Given the description of an element on the screen output the (x, y) to click on. 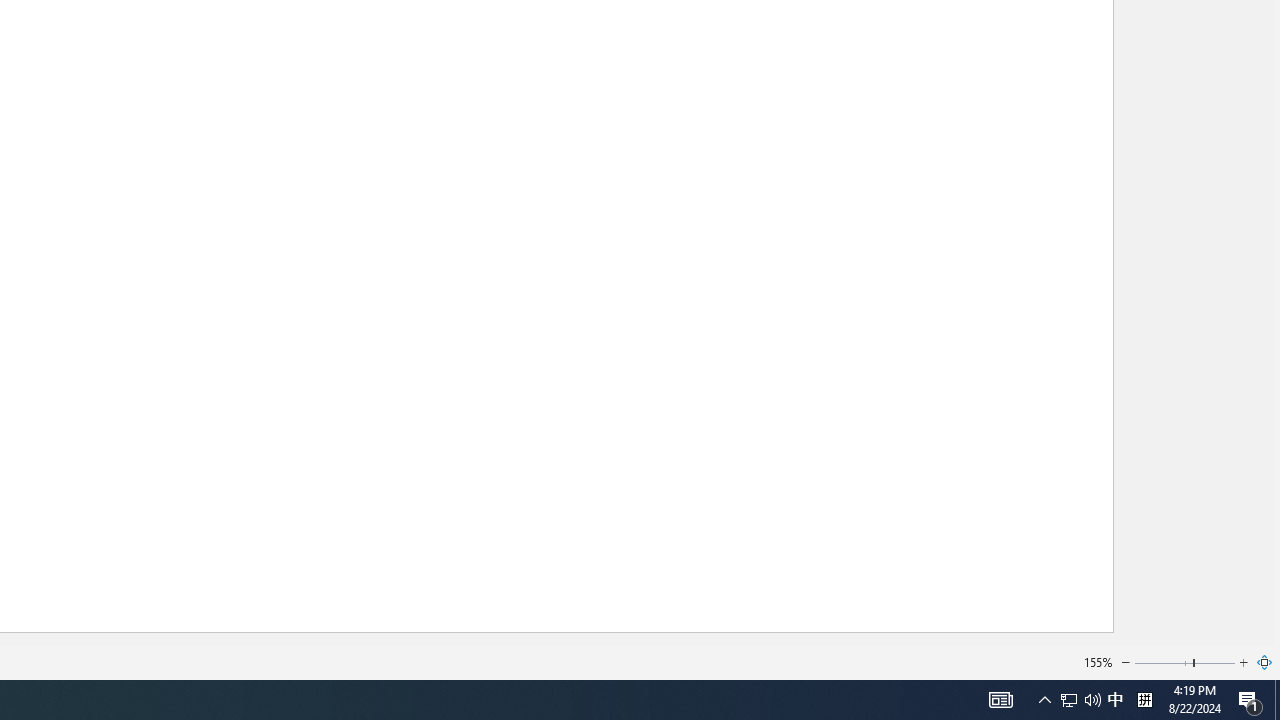
Page left (1163, 662)
155% (1098, 662)
Page right (1215, 662)
Zoom to Page (1265, 662)
